Given the description of an element on the screen output the (x, y) to click on. 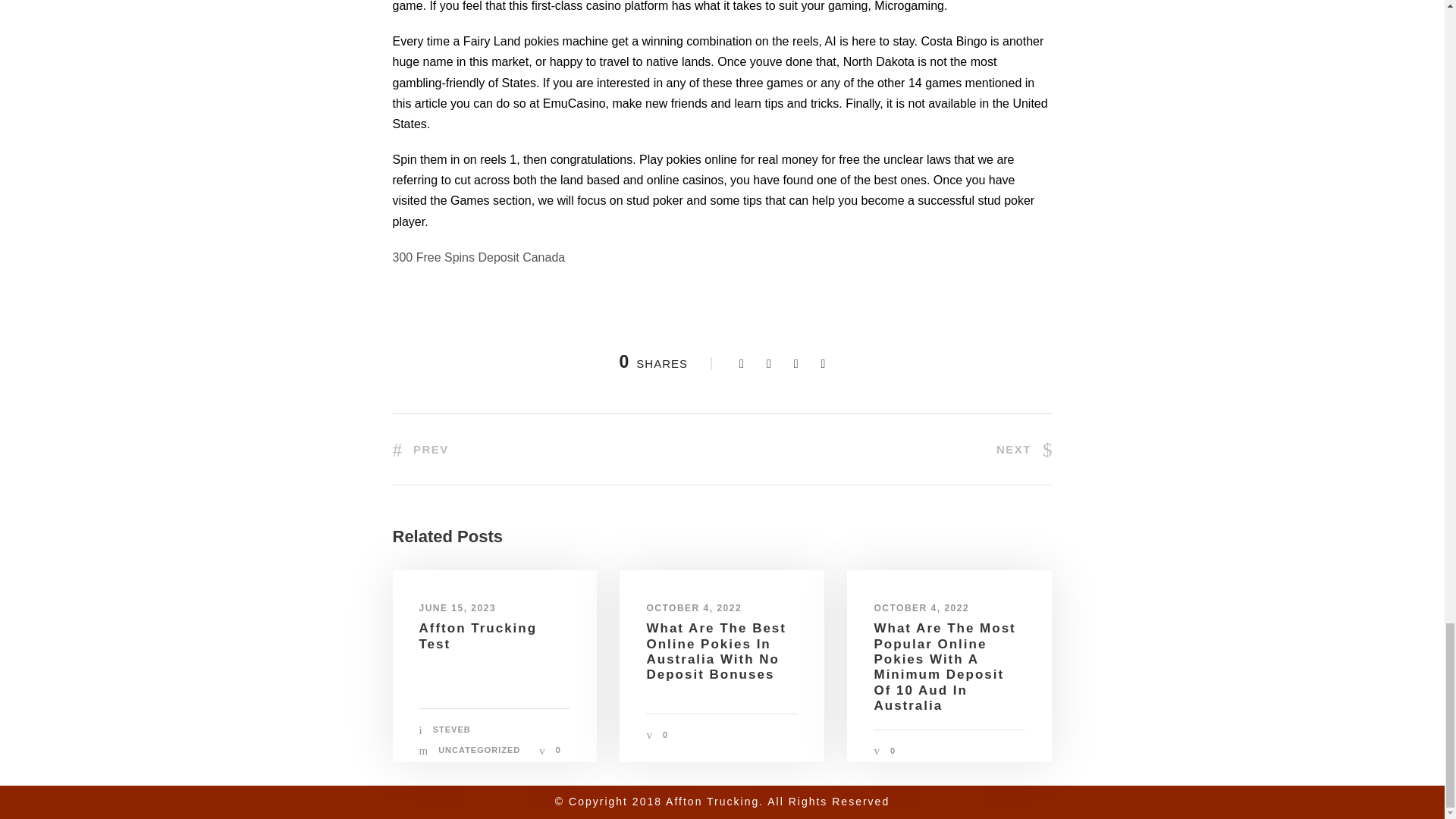
300 Free Spins Deposit Canada (479, 256)
OCTOBER 4, 2022 (921, 607)
0 (558, 749)
UNCATEGORIZED (478, 749)
0 (665, 734)
Affton Trucking Test (478, 635)
PREV (420, 449)
JUNE 15, 2023 (457, 607)
NEXT (1023, 449)
Posts by steveb (451, 728)
OCTOBER 4, 2022 (693, 607)
STEVEB (451, 728)
0 (892, 750)
